Given the description of an element on the screen output the (x, y) to click on. 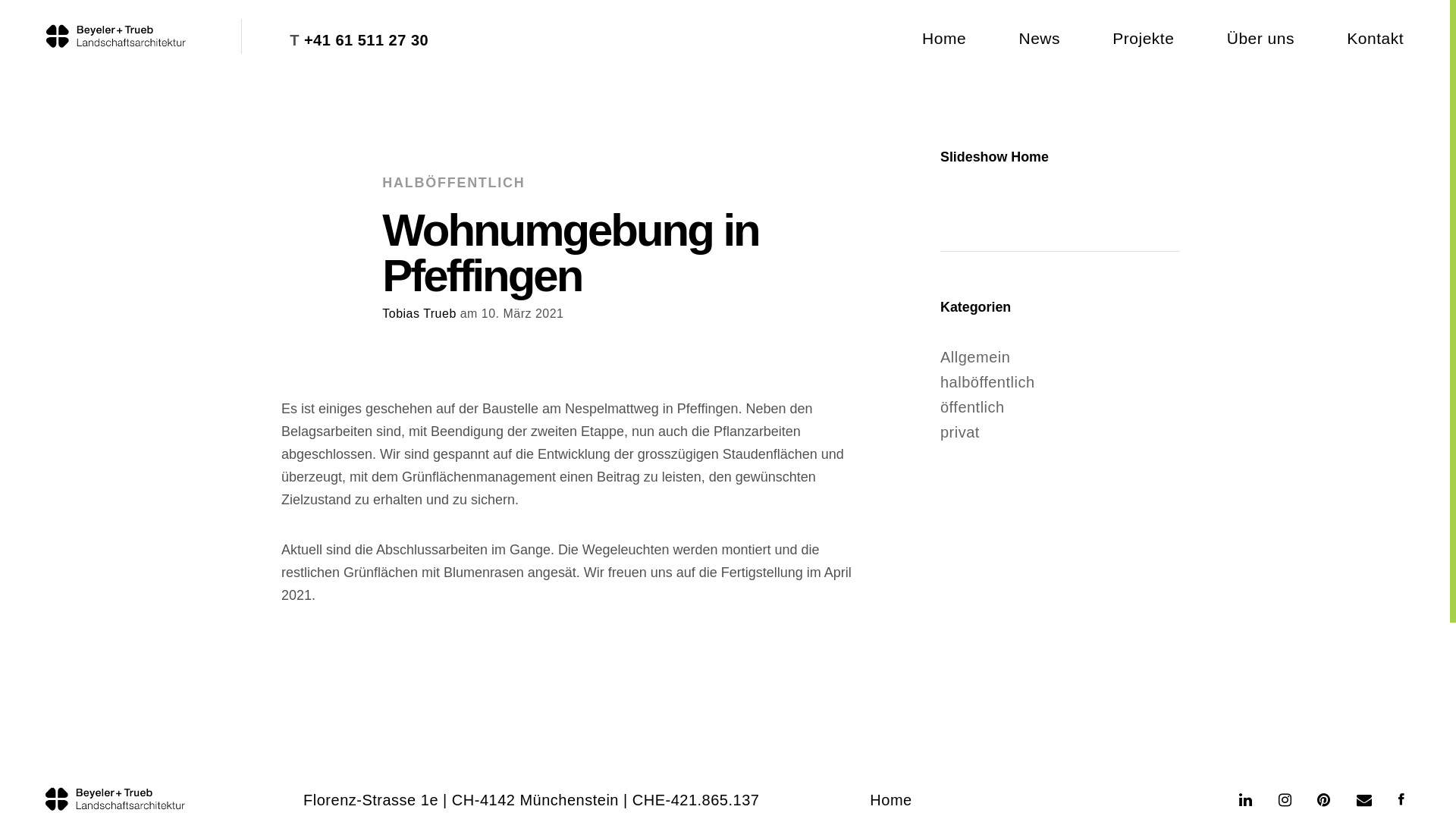
Home Element type: text (890, 799)
Kontakt Element type: text (1374, 38)
Home Element type: text (944, 38)
Tobias Trueb Element type: text (418, 313)
privat Element type: text (959, 432)
Projekte Element type: text (1142, 38)
Allgemein Element type: text (975, 357)
News Element type: text (1039, 38)
